Given the description of an element on the screen output the (x, y) to click on. 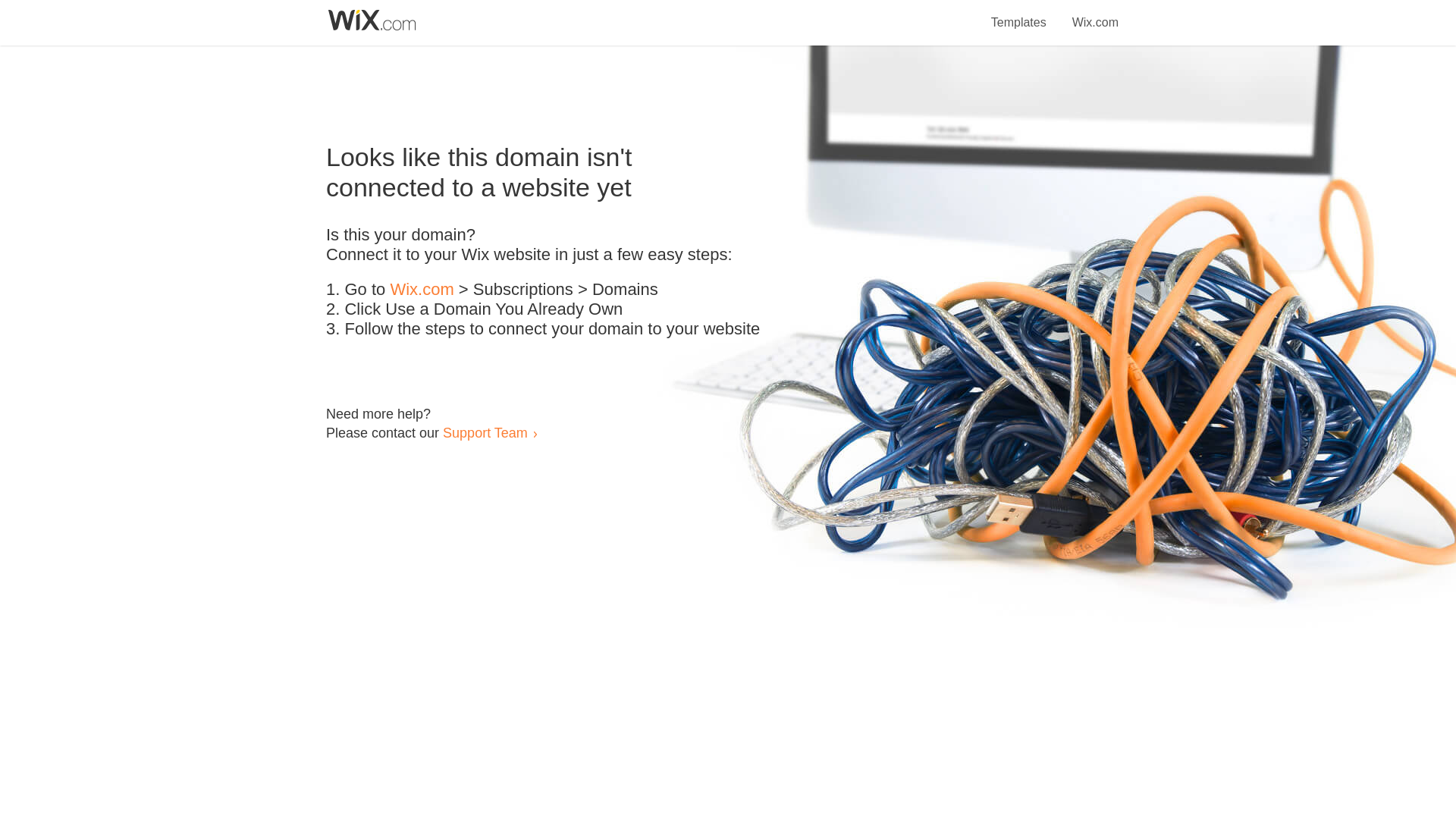
Templates (1018, 14)
Support Team (484, 432)
Wix.com (1095, 14)
Wix.com (421, 289)
